Given the description of an element on the screen output the (x, y) to click on. 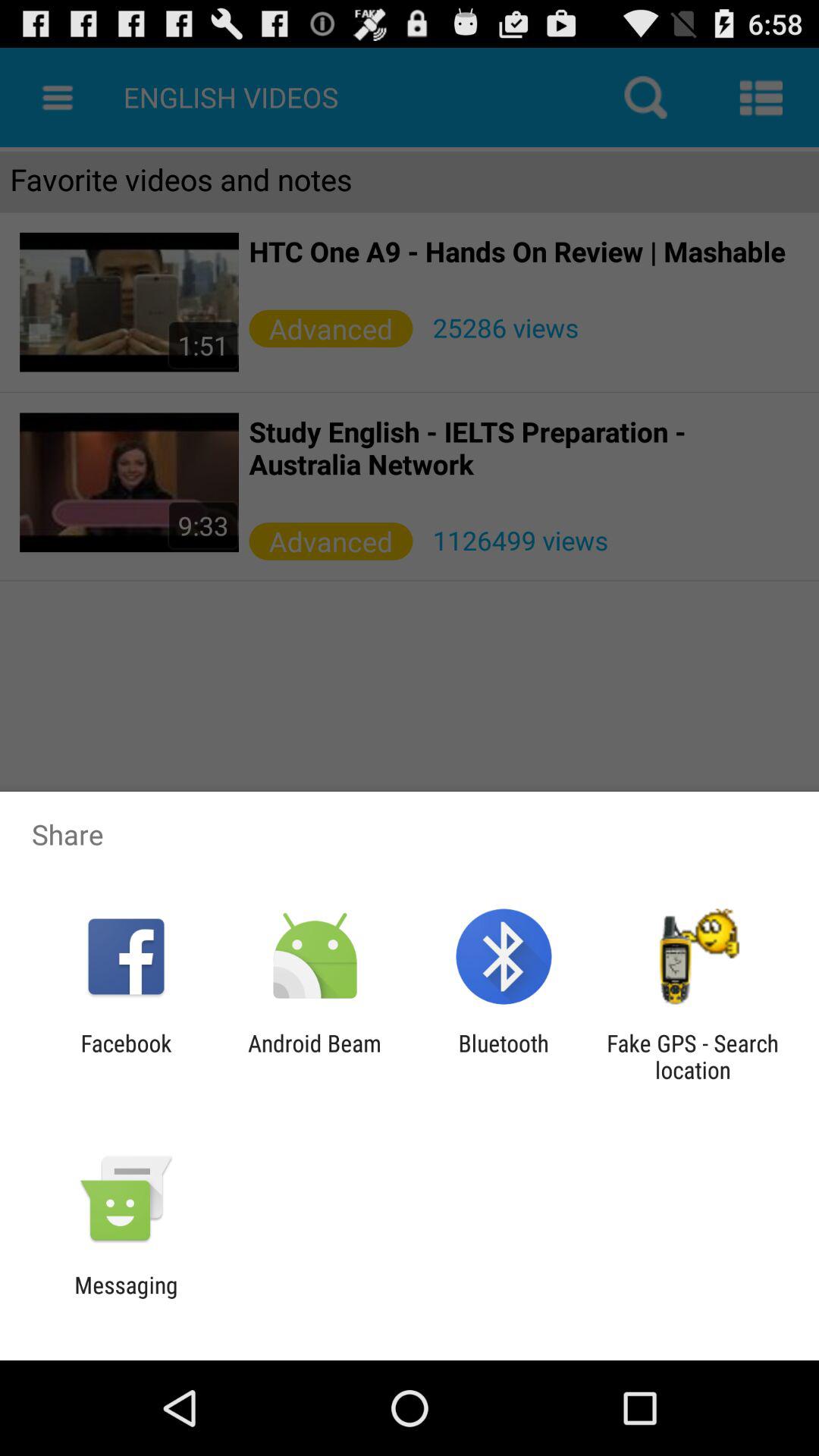
select icon to the left of bluetooth (314, 1056)
